Given the description of an element on the screen output the (x, y) to click on. 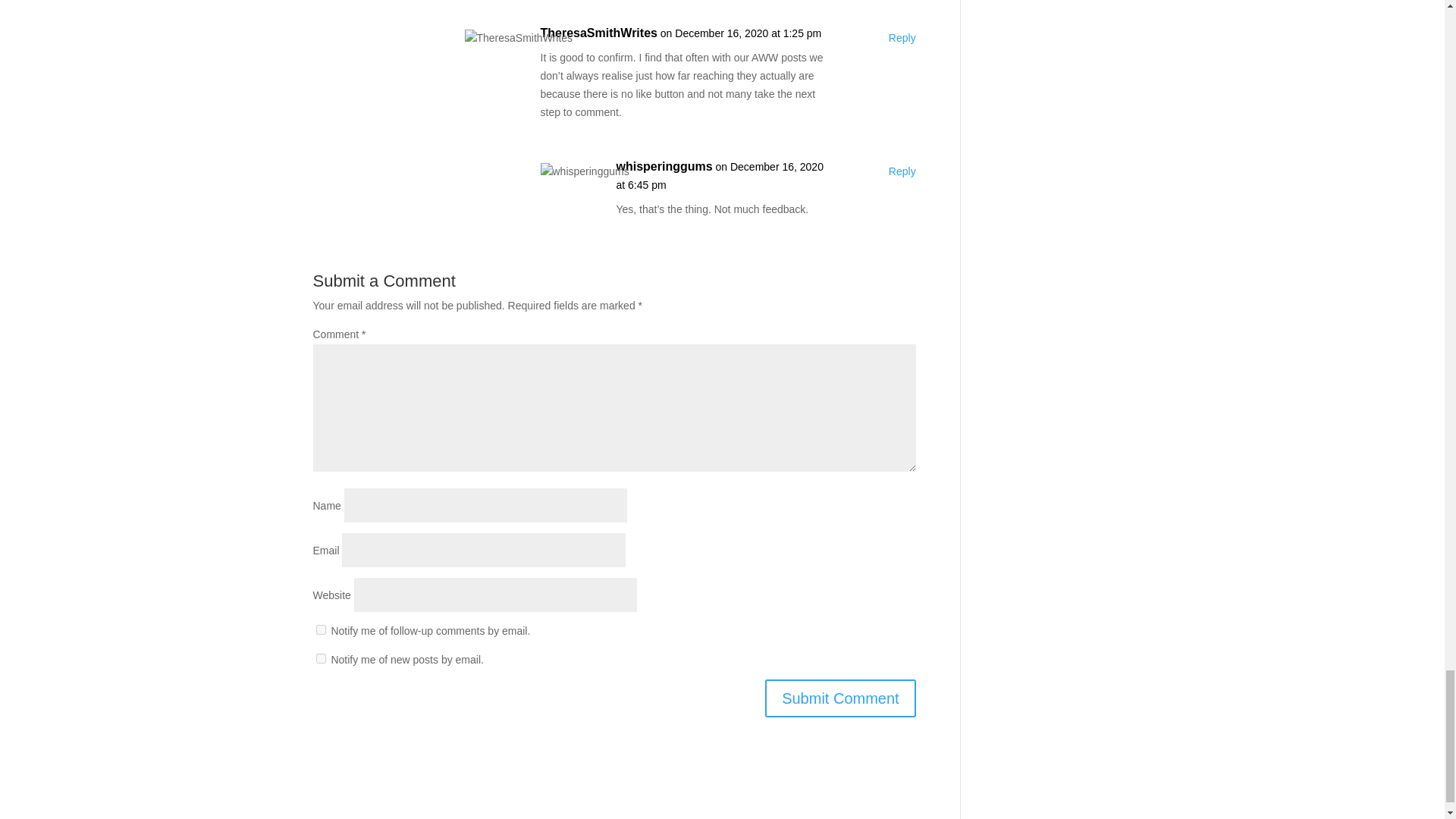
Submit Comment (840, 698)
subscribe (319, 629)
subscribe (319, 658)
